Given the description of an element on the screen output the (x, y) to click on. 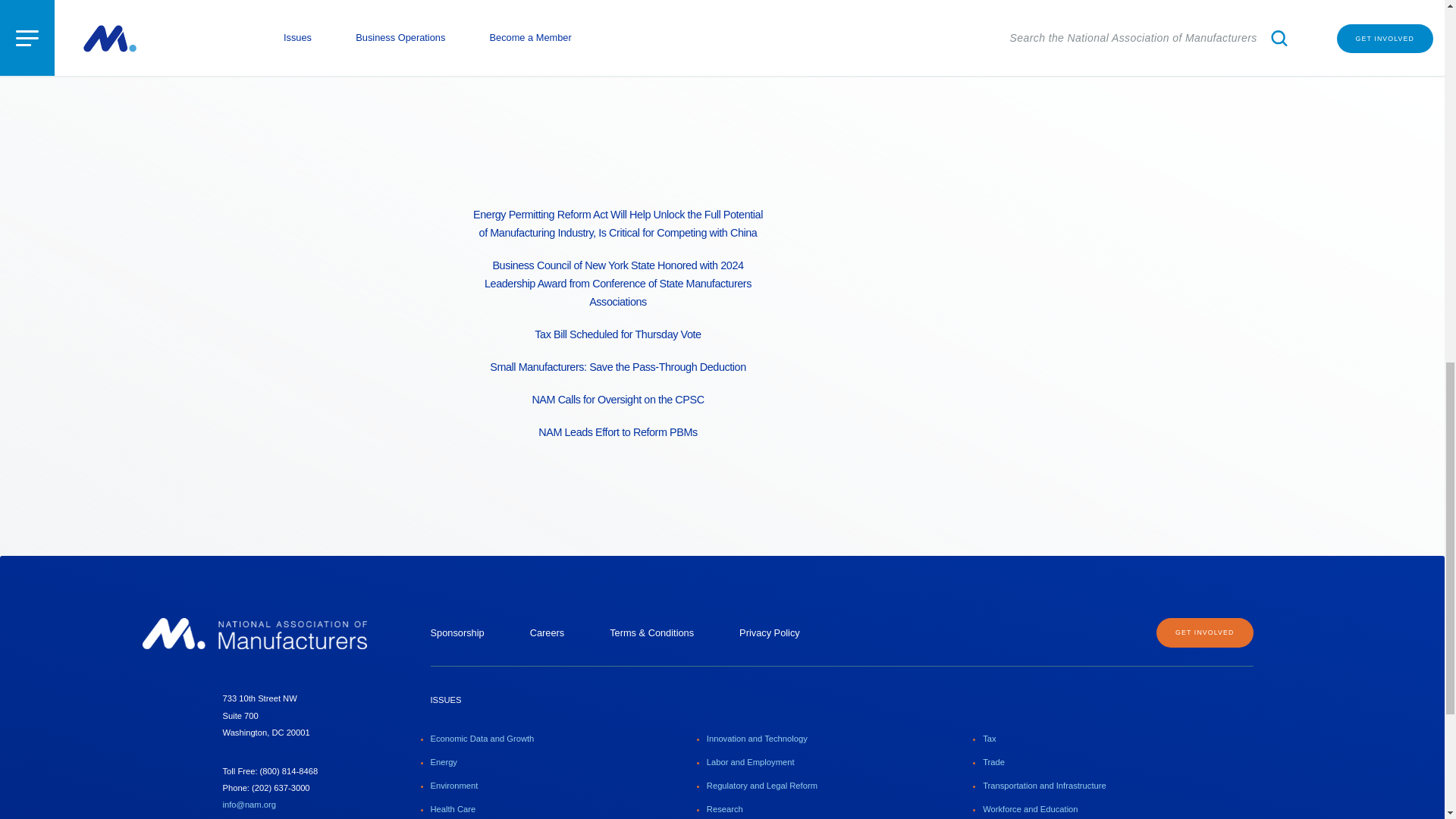
Small Manufacturers: Save the Pass-Through Deduction (616, 359)
Tax Bill Scheduled for Thursday Vote (616, 327)
NAM Calls for Oversight on the CPSC (616, 392)
NAM Leads Effort to Reform PBMs (616, 425)
